Given the description of an element on the screen output the (x, y) to click on. 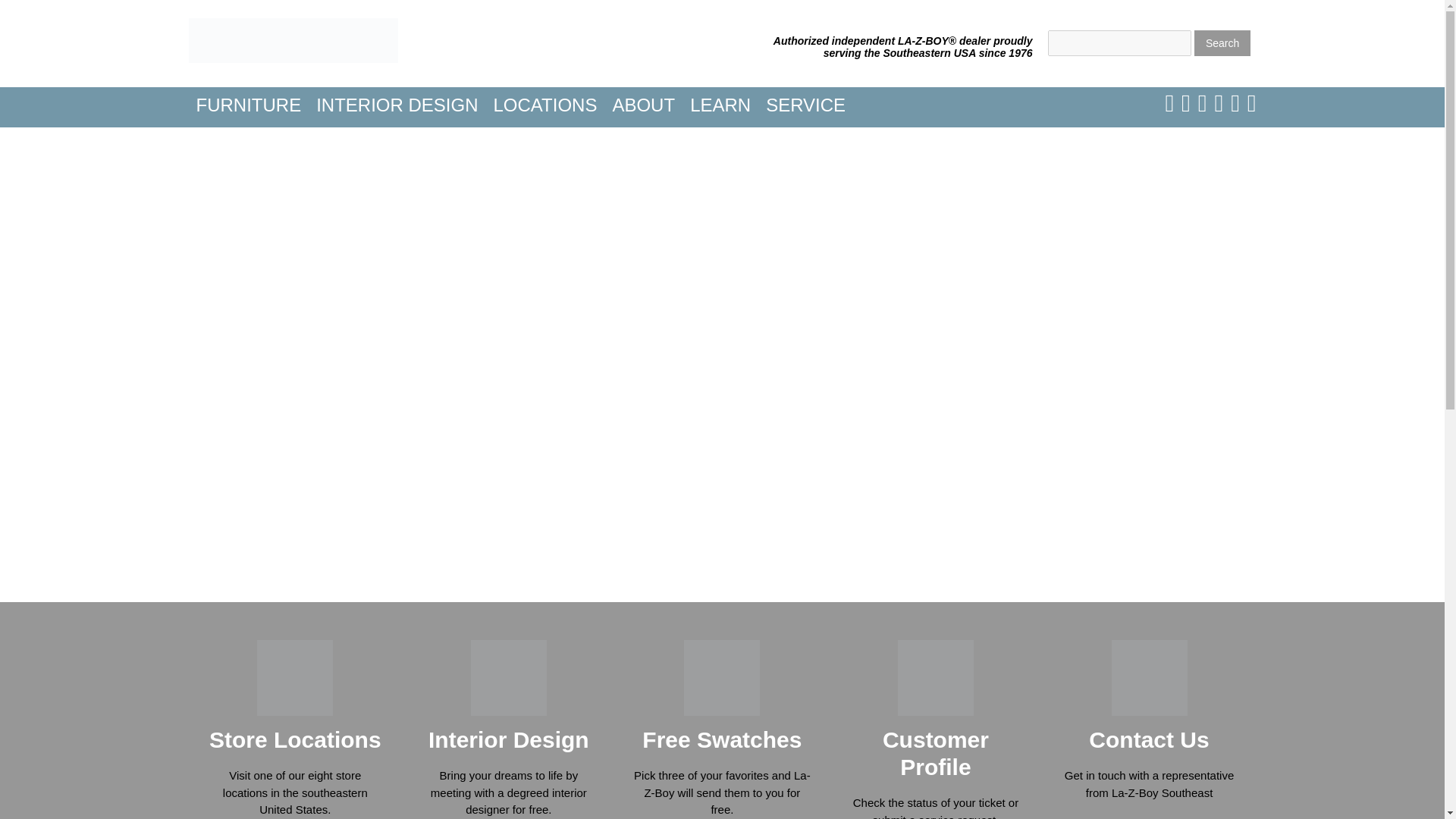
La-Z-Boy Furniture Academy Logo (292, 40)
FURNITURE (247, 104)
SCHEDULE APPOINTMENT (312, 141)
SERVICE (805, 104)
INTERIOR DESIGN (396, 104)
Speak to Our Team (1149, 817)
Customer Profile (935, 753)
Search (1221, 43)
ABOUT (643, 104)
Contact Us (1148, 739)
Store Locations (295, 739)
Search (1221, 43)
La-Z-Boy Southeast (292, 58)
Interior Design (508, 739)
LOGIN (474, 141)
